Given the description of an element on the screen output the (x, y) to click on. 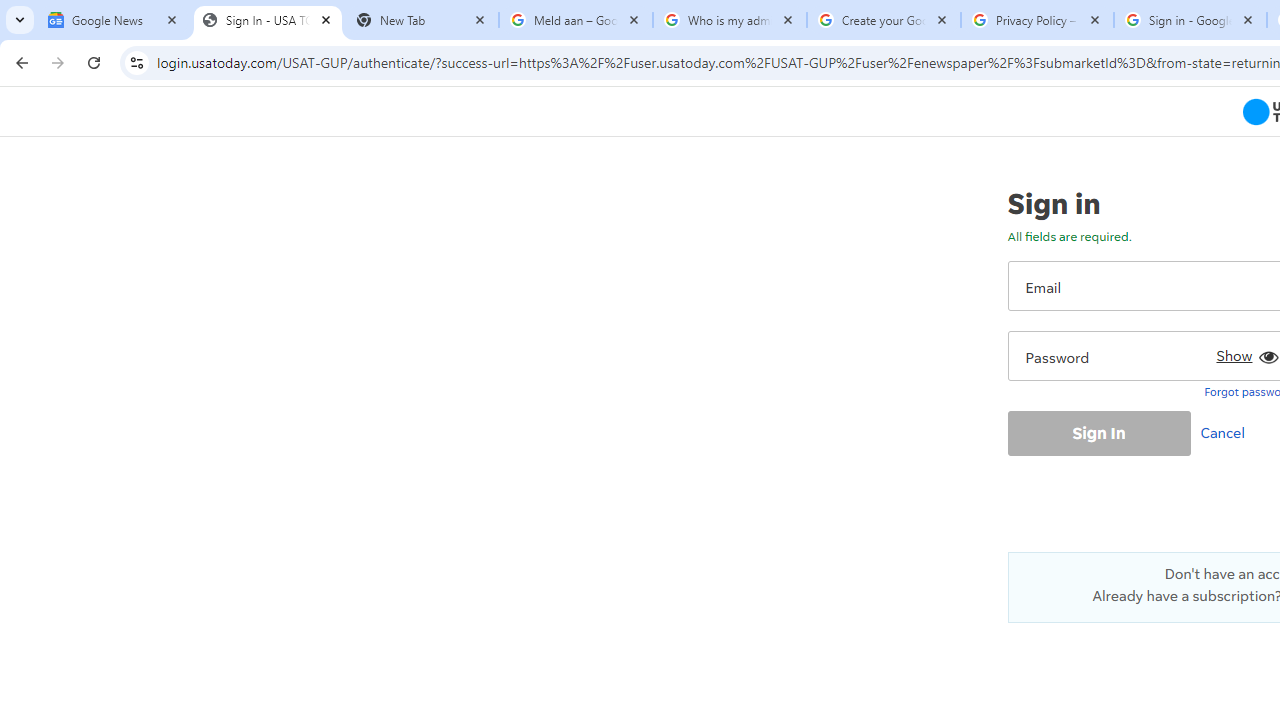
New Tab (421, 20)
Sign In (1098, 432)
